Given the description of an element on the screen output the (x, y) to click on. 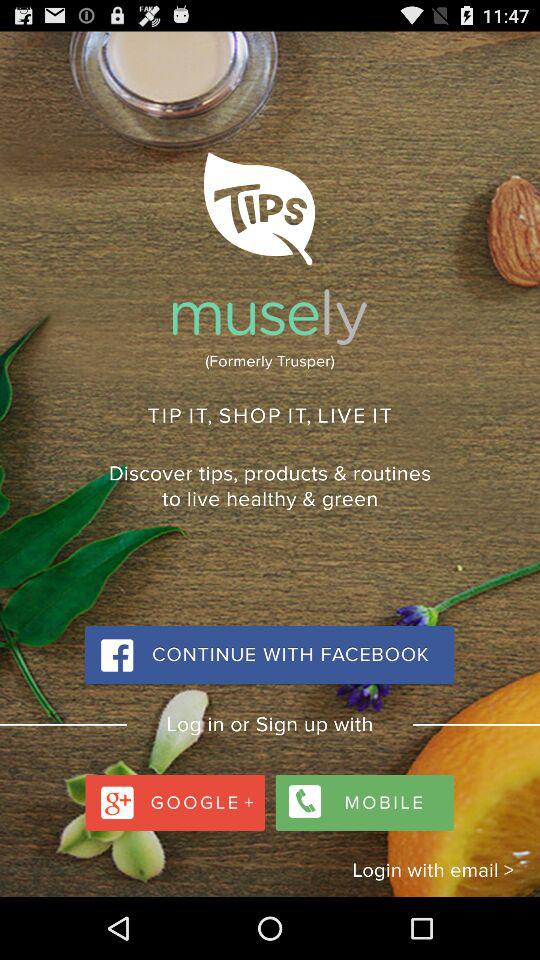
go to google (177, 797)
